Given the description of an element on the screen output the (x, y) to click on. 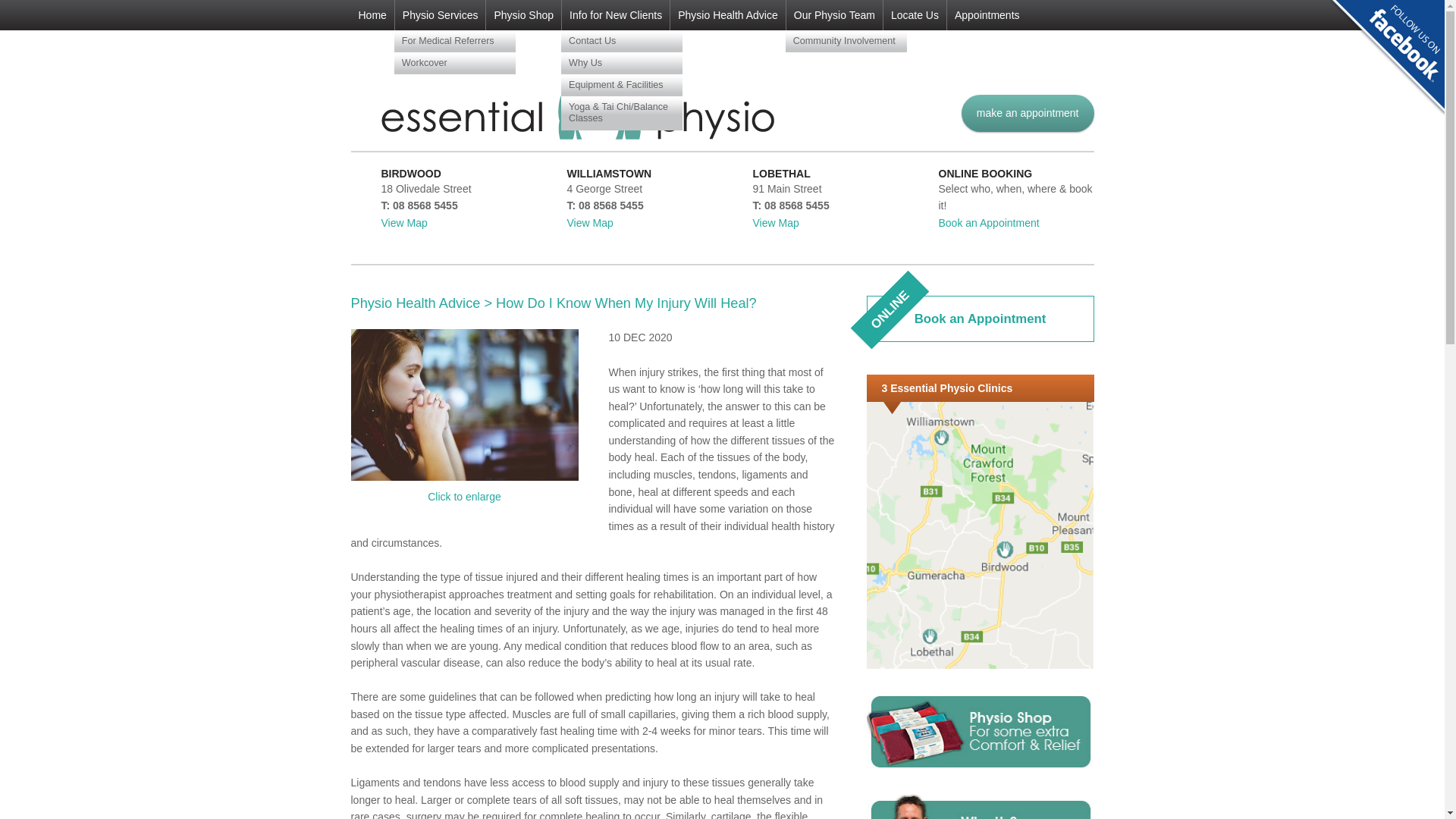
View Map (979, 318)
Home (589, 223)
Physio Shop (371, 15)
Click to enlarge (522, 15)
3 Essential Physio Clinics (464, 496)
Physio Health Advice (979, 664)
View Map (727, 15)
Workcover (774, 223)
Locate Us (454, 63)
View Map (914, 15)
Community Involvement (403, 223)
Appointments (846, 41)
For Medical Referrers (986, 15)
Our Physio Team (454, 41)
